Given the description of an element on the screen output the (x, y) to click on. 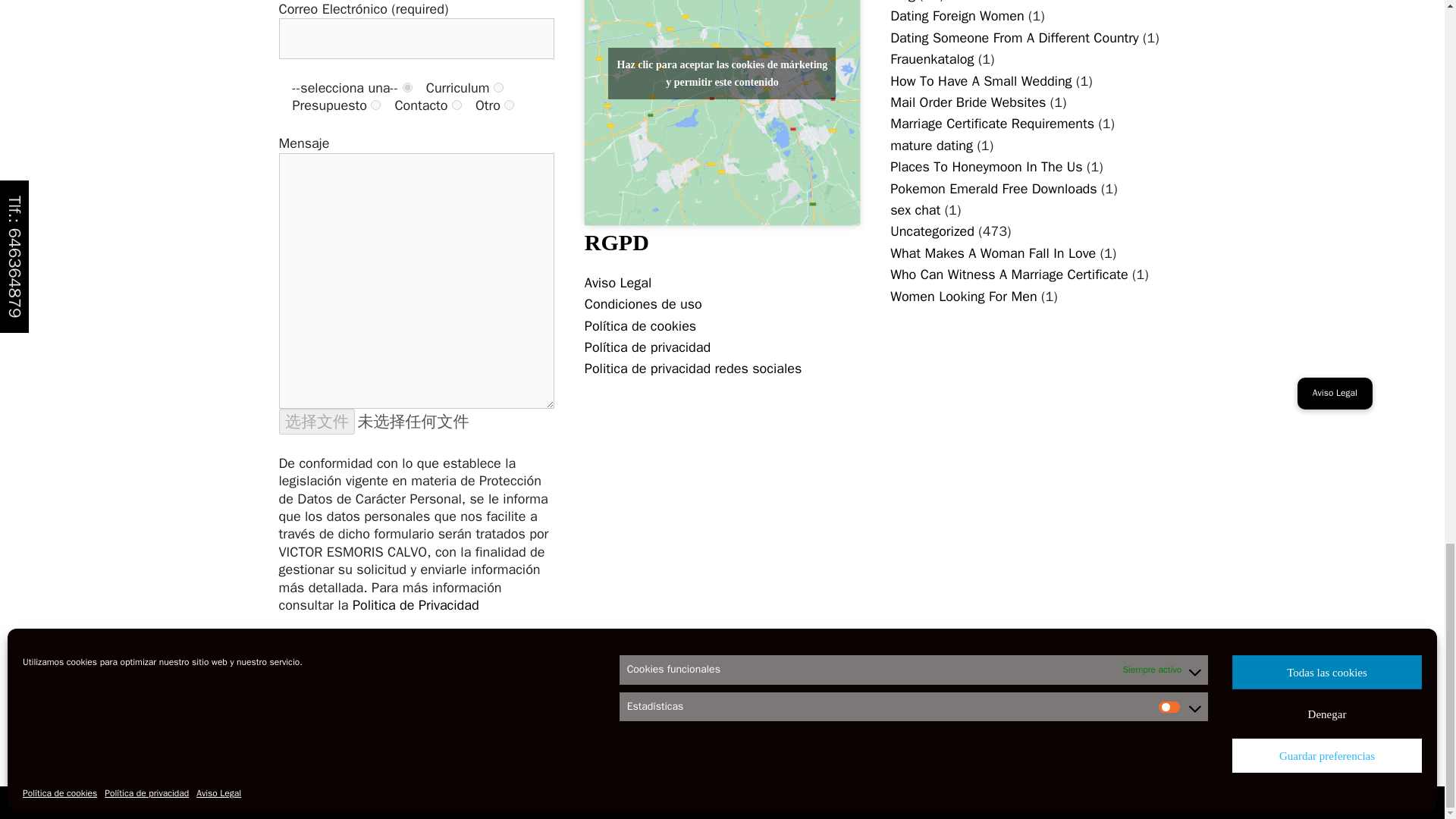
Aviso Legal (617, 282)
Otro (508, 104)
--selecciona una-- (407, 87)
Curriculum (498, 87)
Condiciones de uso (643, 303)
Contacto (456, 104)
Politica de Privacidad (415, 605)
Enviar (315, 709)
Presupuesto (375, 104)
Enviar (315, 709)
